Given the description of an element on the screen output the (x, y) to click on. 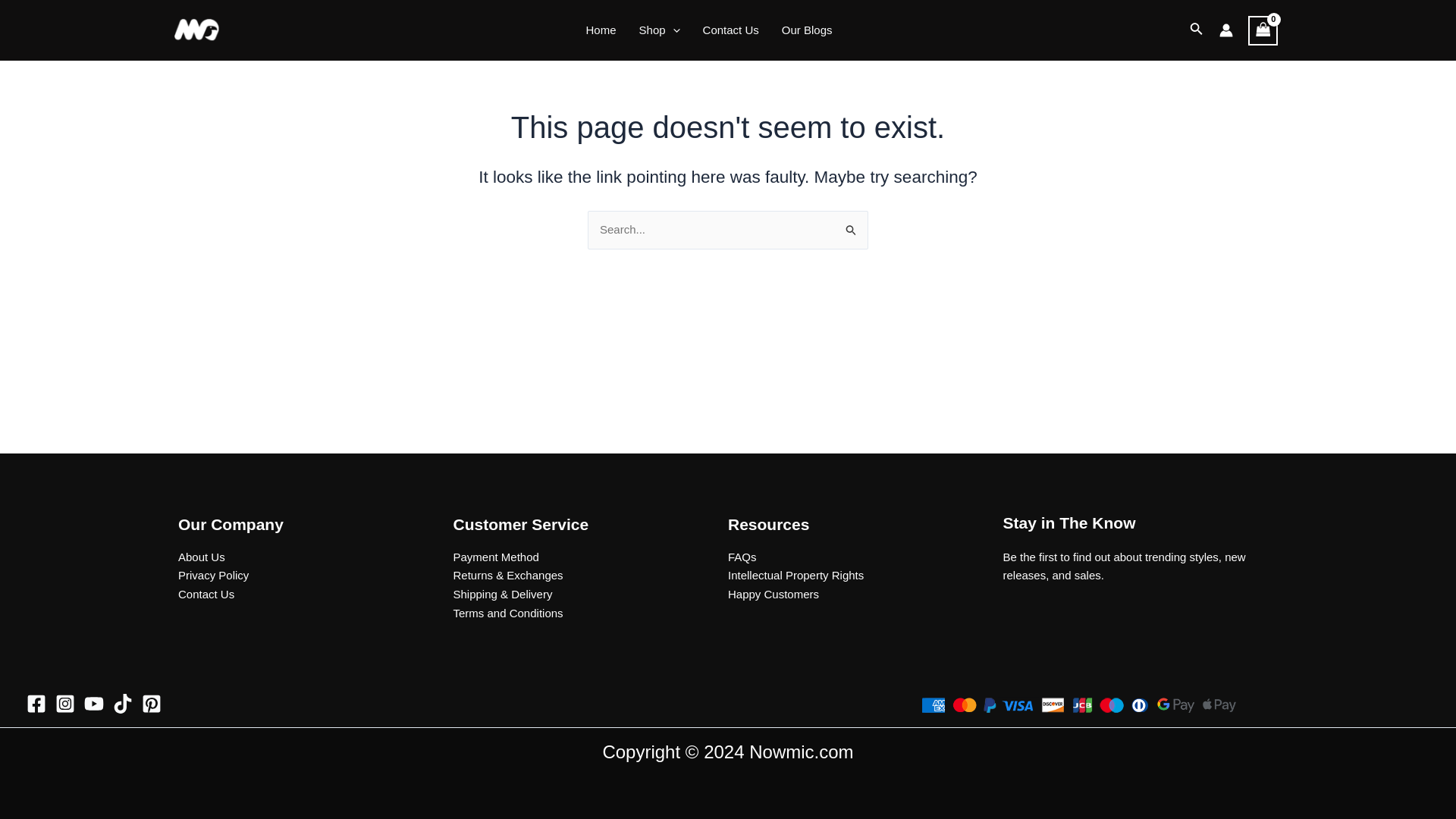
Search (850, 225)
Payment Method (495, 556)
Contact Us (730, 30)
Intellectual Property Rights (795, 574)
About Us (201, 556)
Terms and Conditions (507, 612)
Search (850, 225)
Search (850, 225)
Contact Us (205, 594)
Our Blogs (807, 30)
Happy Customers (773, 594)
Shop (659, 30)
FAQs (742, 556)
Privacy Policy (212, 574)
